Given the description of an element on the screen output the (x, y) to click on. 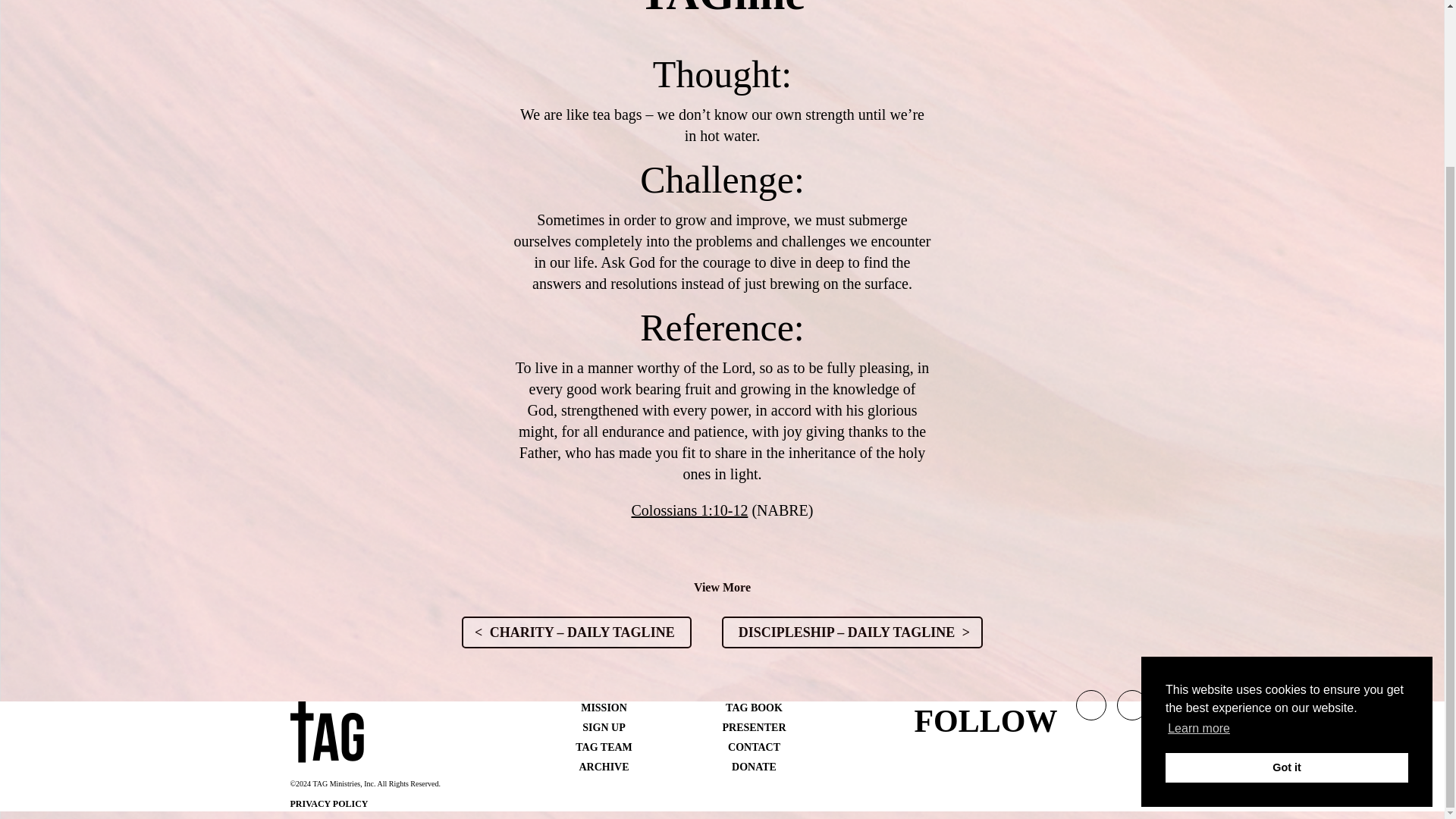
CONTACT (754, 747)
PRESENTER (754, 727)
ARCHIVE (603, 767)
SIGN UP (603, 727)
PRIVACY POLICY (328, 803)
Got it (1286, 568)
TAG TEAM (603, 747)
TAG BOOK (754, 707)
Colossians 1:10-12 (689, 510)
MISSION (603, 707)
DONATE (754, 767)
Learn more (1198, 529)
Twitter (1091, 710)
Facebook (1132, 710)
